Given the description of an element on the screen output the (x, y) to click on. 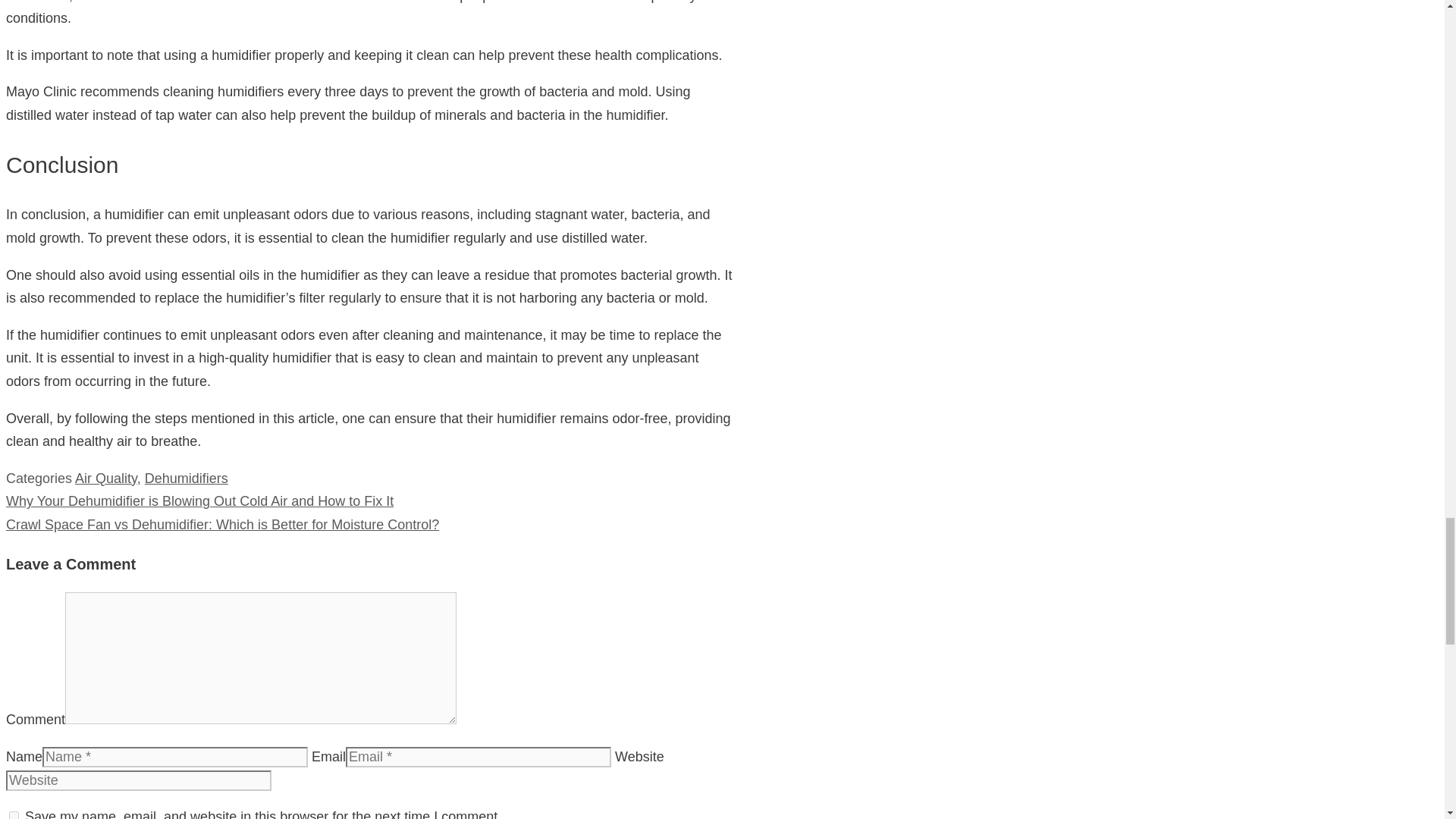
Dehumidifiers (186, 478)
Air Quality (105, 478)
yes (13, 815)
